Given the description of an element on the screen output the (x, y) to click on. 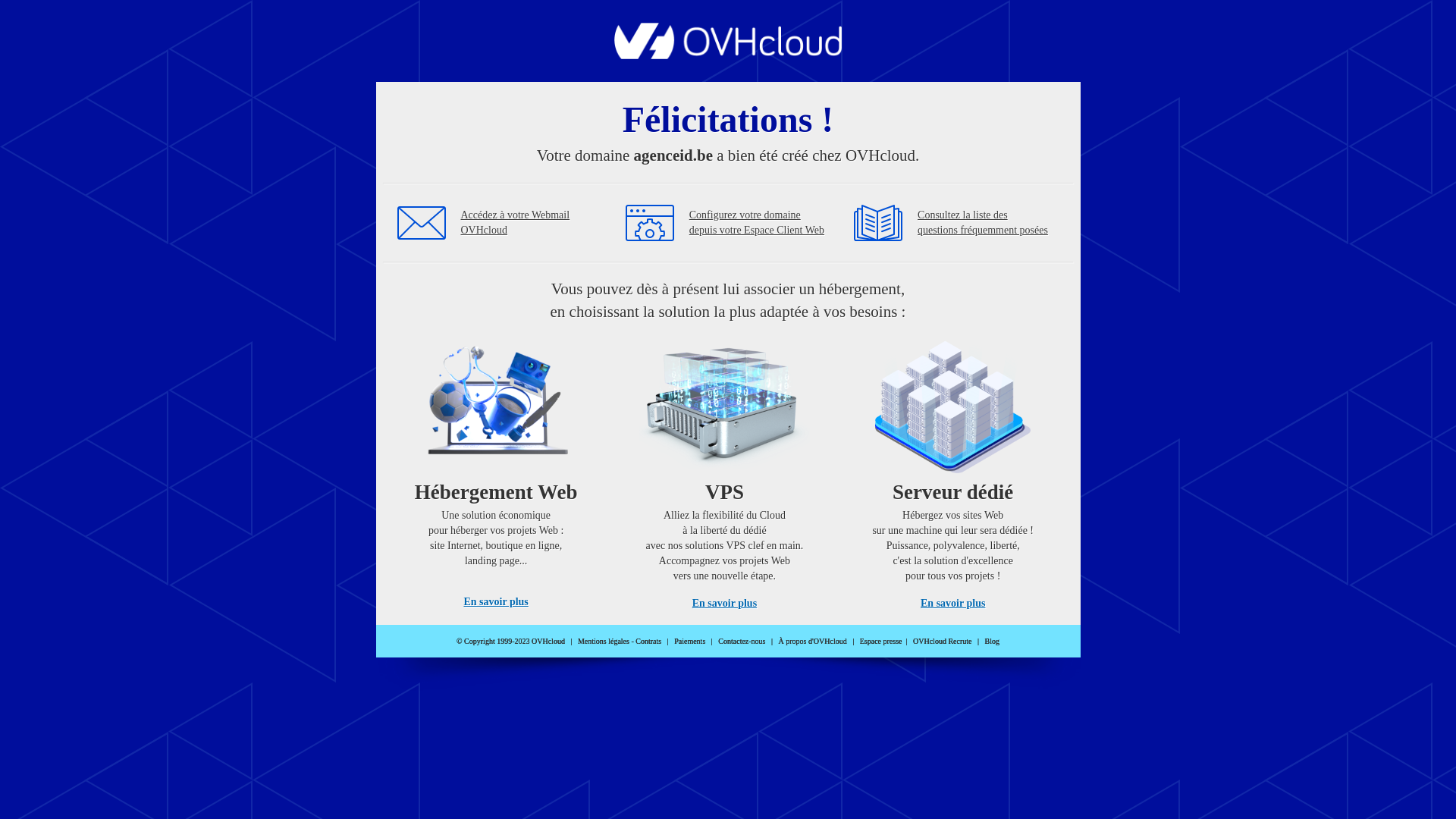
OVHcloud Element type: hover (727, 54)
Paiements Element type: text (689, 641)
En savoir plus Element type: text (495, 601)
Configurez votre domaine
depuis votre Espace Client Web Element type: text (756, 222)
Contactez-nous Element type: text (741, 641)
En savoir plus Element type: text (724, 602)
Blog Element type: text (992, 641)
VPS Element type: hover (724, 469)
Espace presse Element type: text (880, 641)
OVHcloud Recrute Element type: text (942, 641)
En savoir plus Element type: text (952, 602)
